Given the description of an element on the screen output the (x, y) to click on. 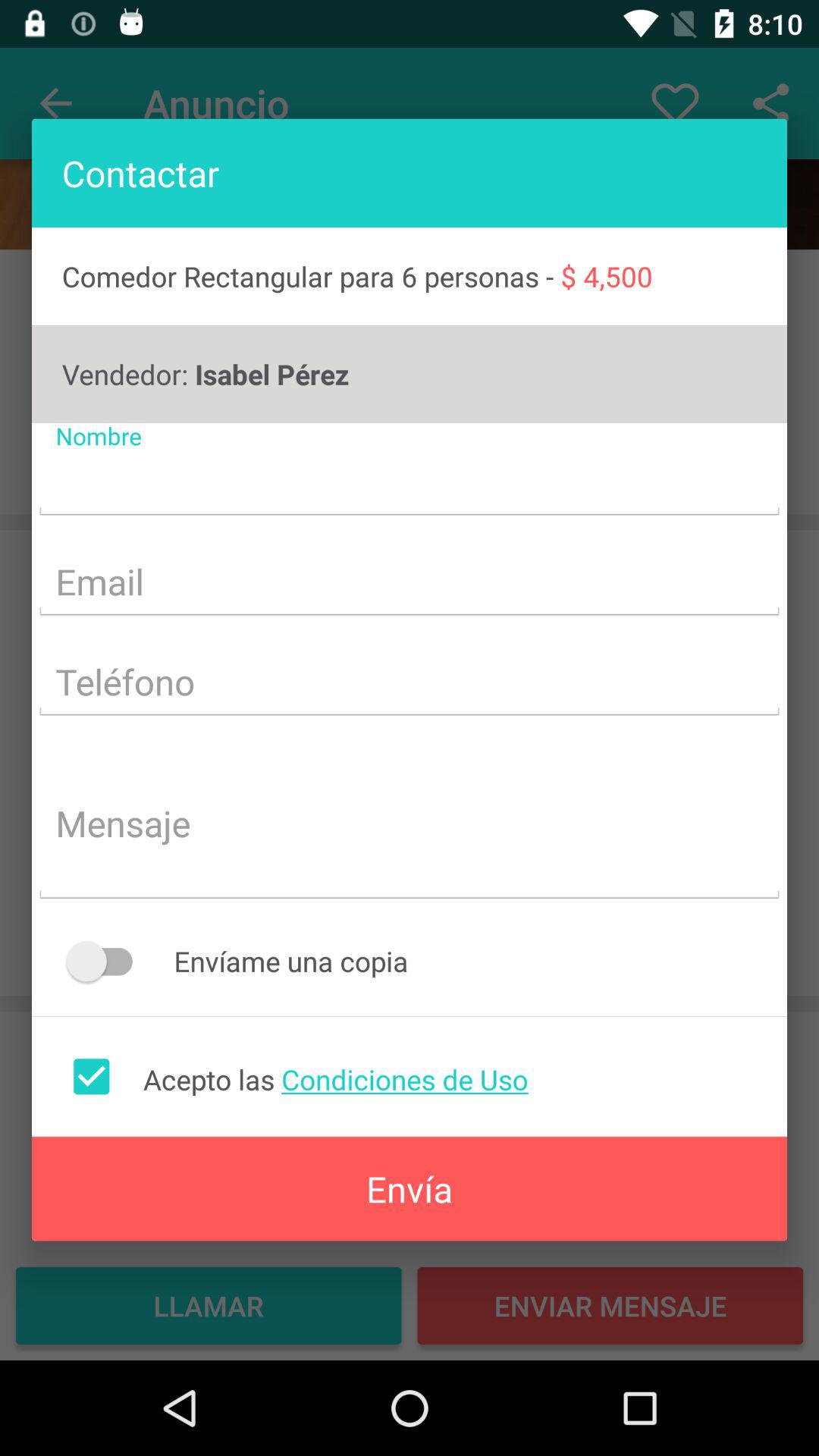
fill up box (409, 683)
